Given the description of an element on the screen output the (x, y) to click on. 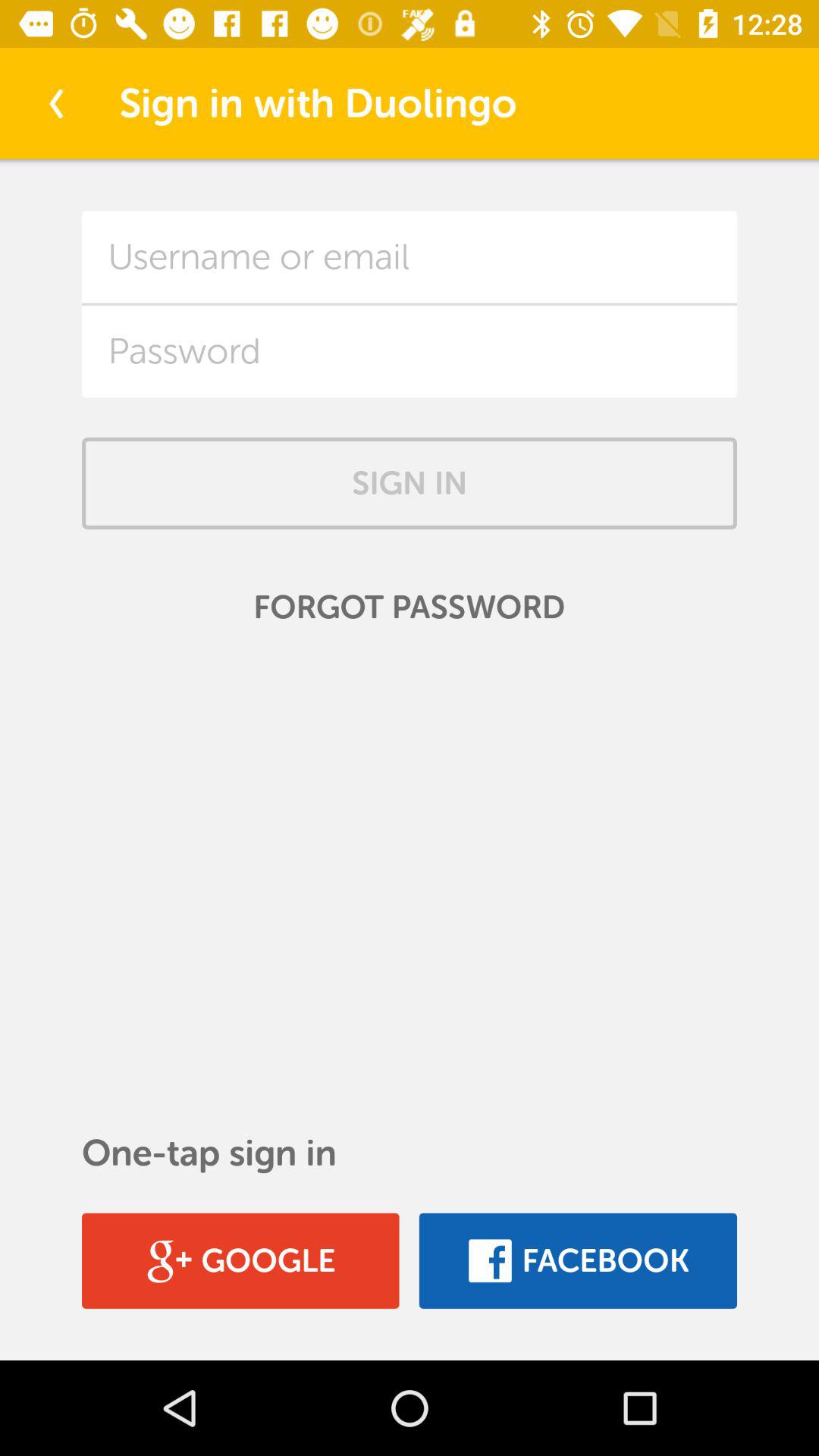
tap forgot password item (409, 607)
